Given the description of an element on the screen output the (x, y) to click on. 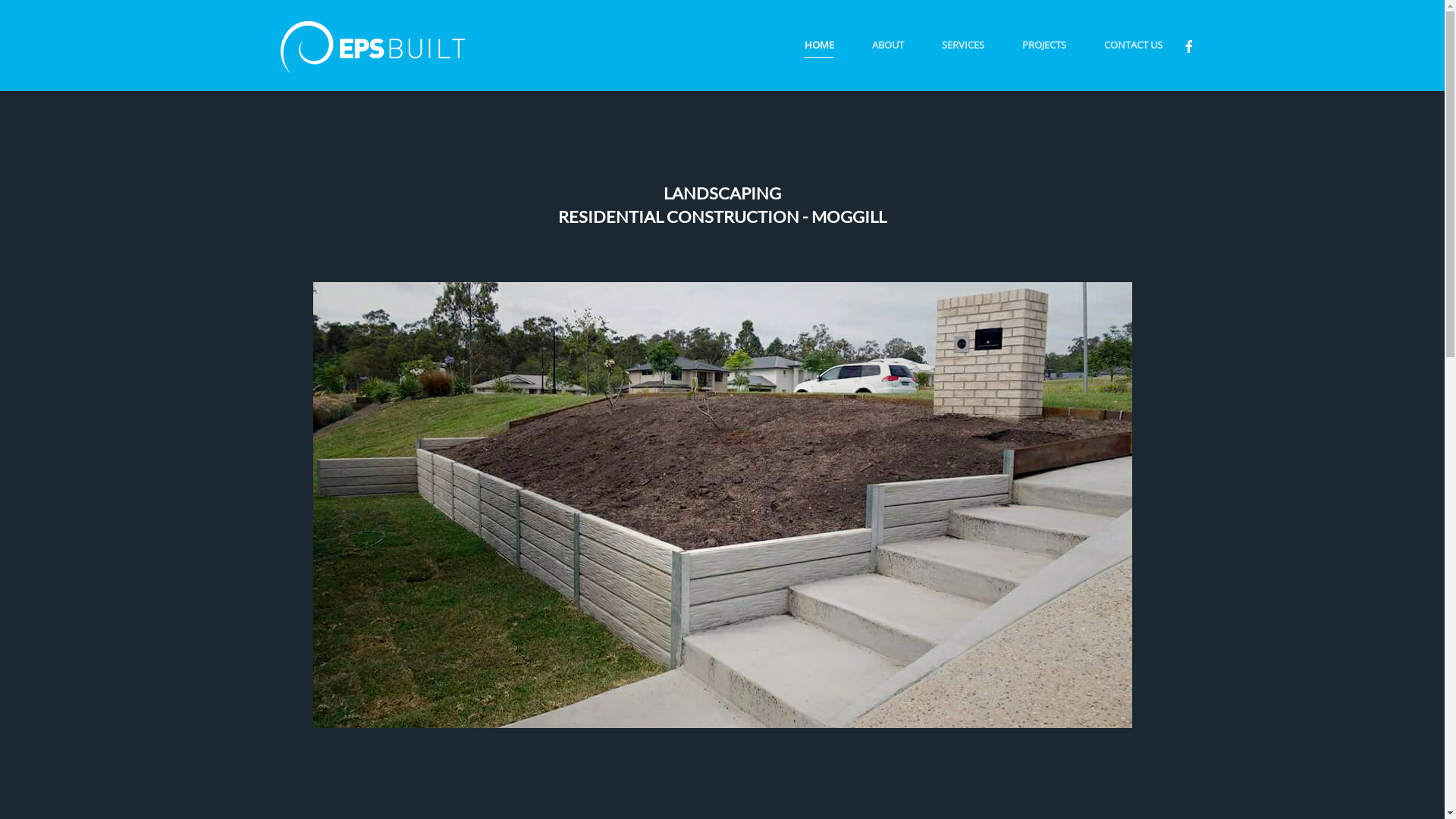
ABOUT Element type: text (887, 45)
PROJECTS Element type: text (1043, 45)
SERVICES Element type: text (962, 45)
HOME Element type: text (819, 45)
CONTACT US Element type: text (1132, 45)
